Given the description of an element on the screen output the (x, y) to click on. 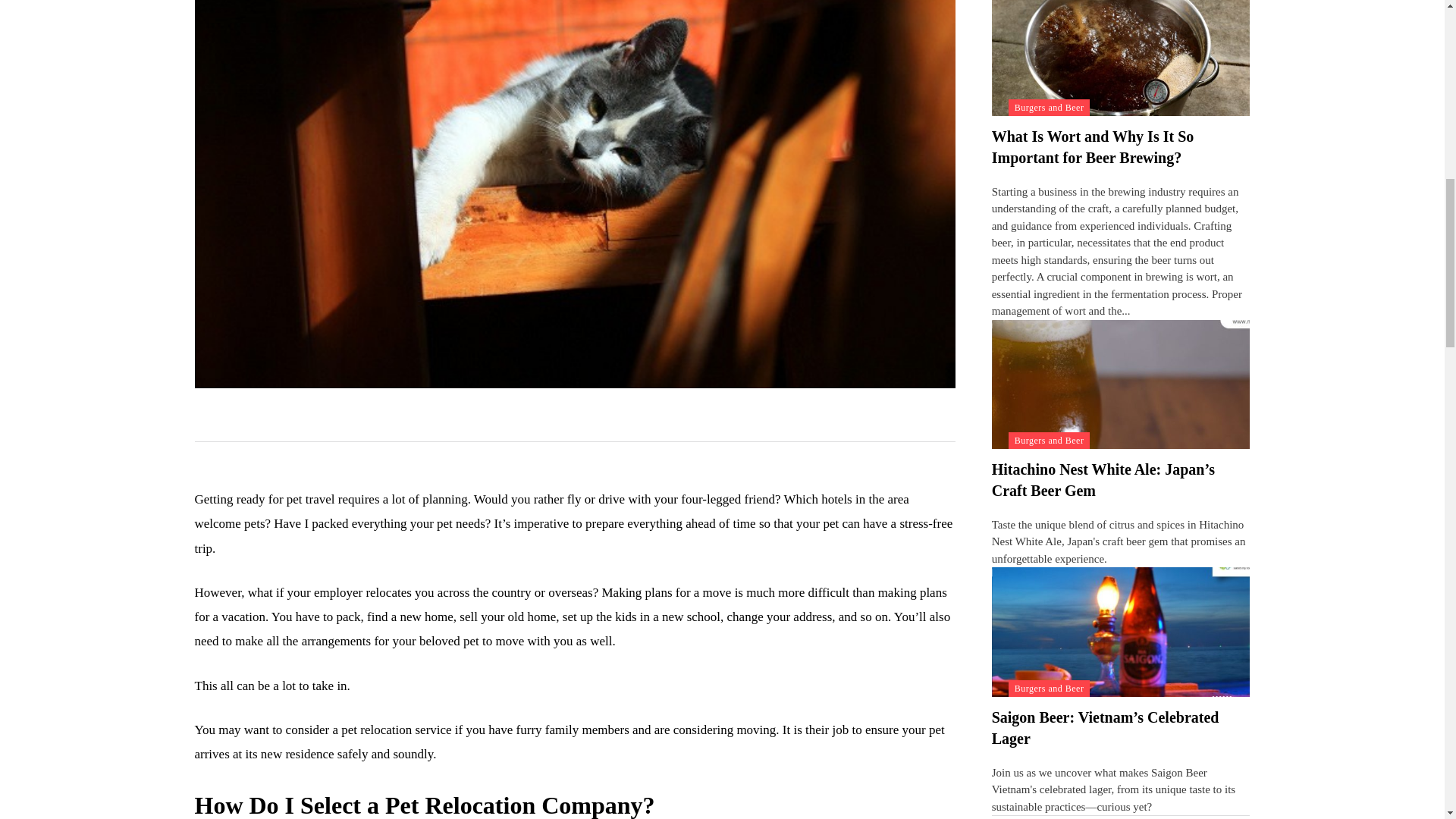
What Is Wort and Why Is It So Important for Beer Brewing? (1092, 146)
What Is Wort and Why Is It So Important for Beer Brewing? (1120, 57)
